Given the description of an element on the screen output the (x, y) to click on. 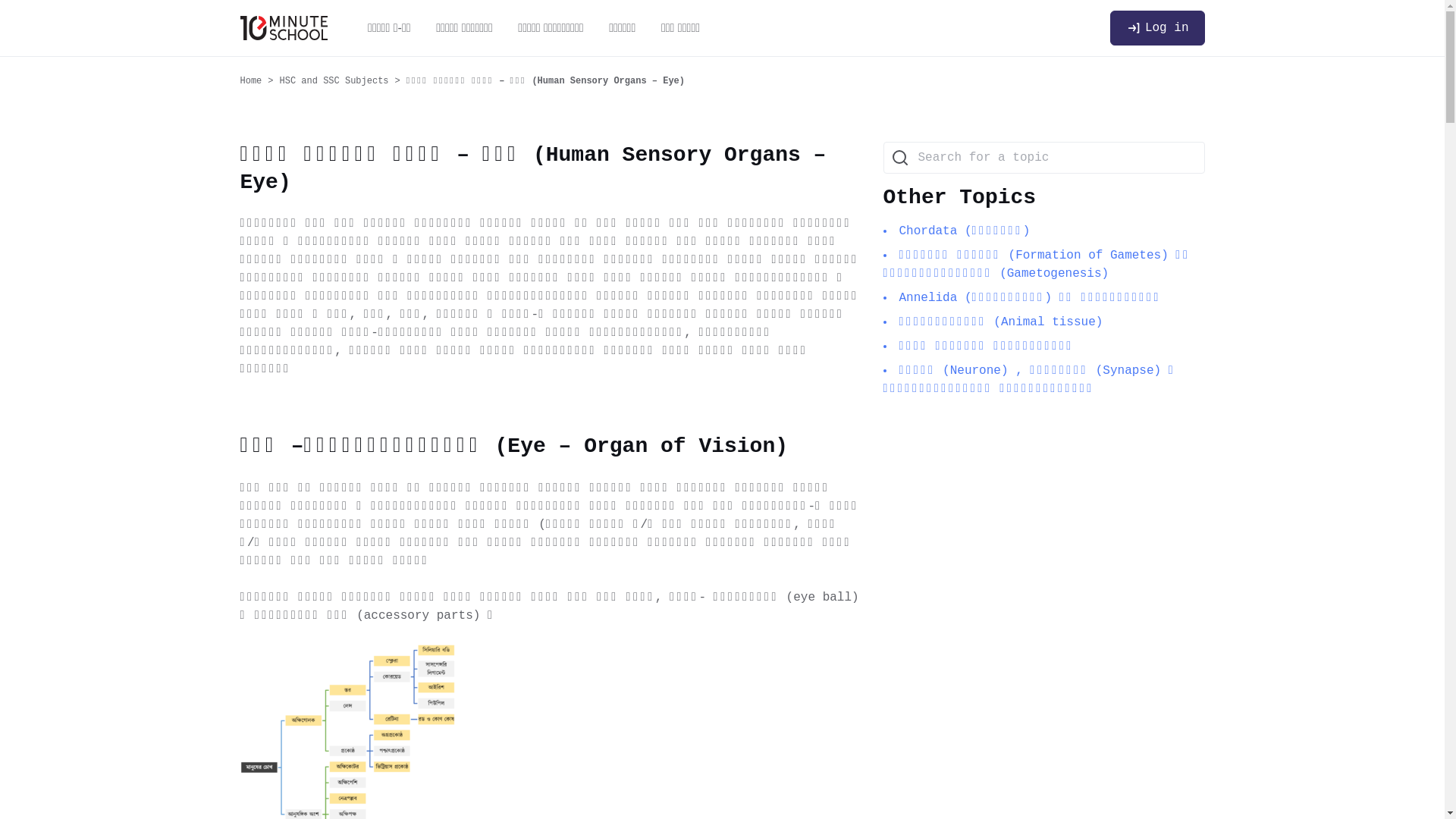
Log in Element type: text (1157, 27)
Home Element type: text (259, 81)
HSC and SSC Subjects Element type: text (342, 81)
